Given the description of an element on the screen output the (x, y) to click on. 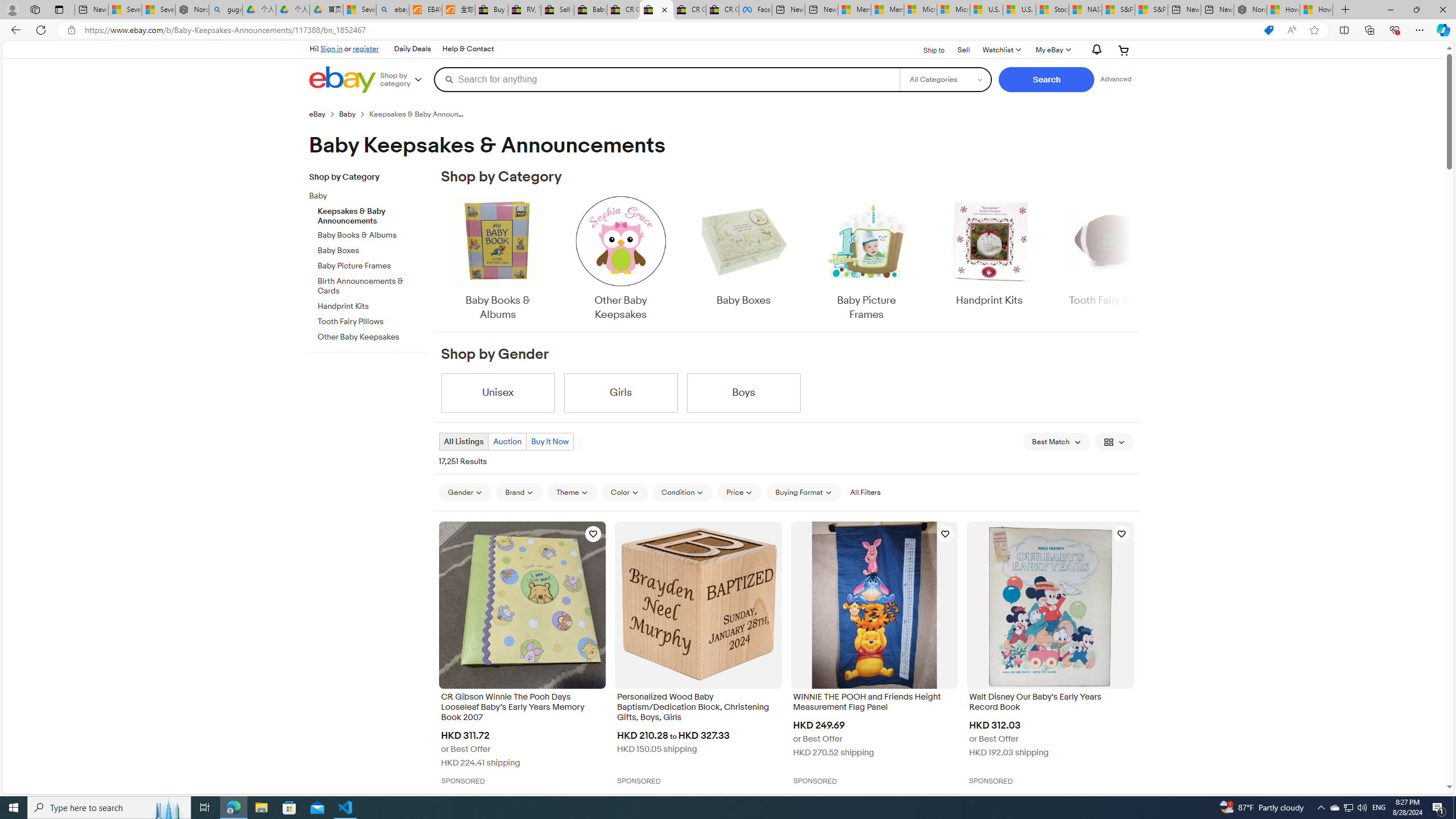
Ship to (926, 50)
